Given the description of an element on the screen output the (x, y) to click on. 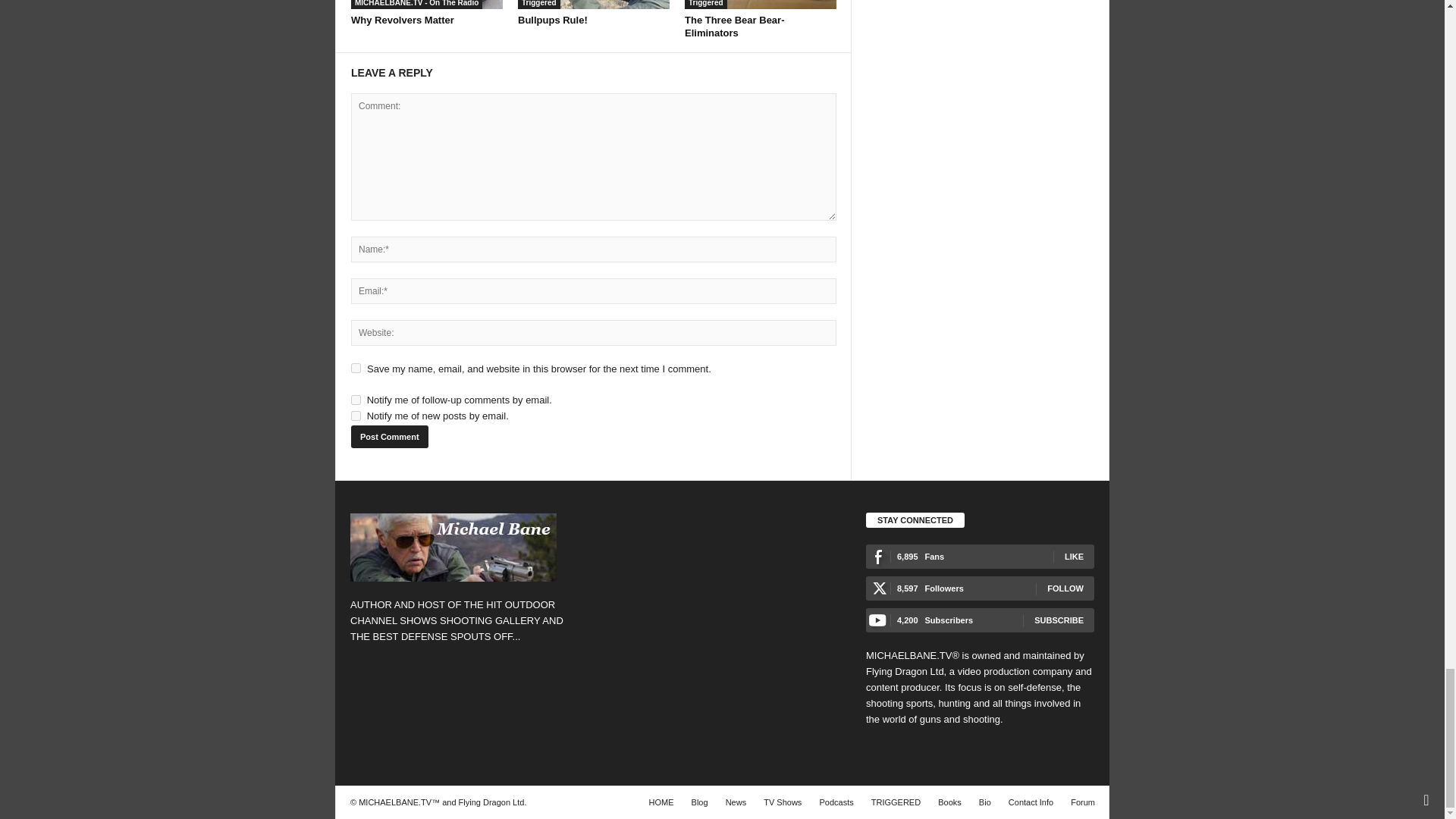
yes (355, 368)
Post Comment (389, 436)
subscribe (355, 415)
subscribe (355, 399)
